Given the description of an element on the screen output the (x, y) to click on. 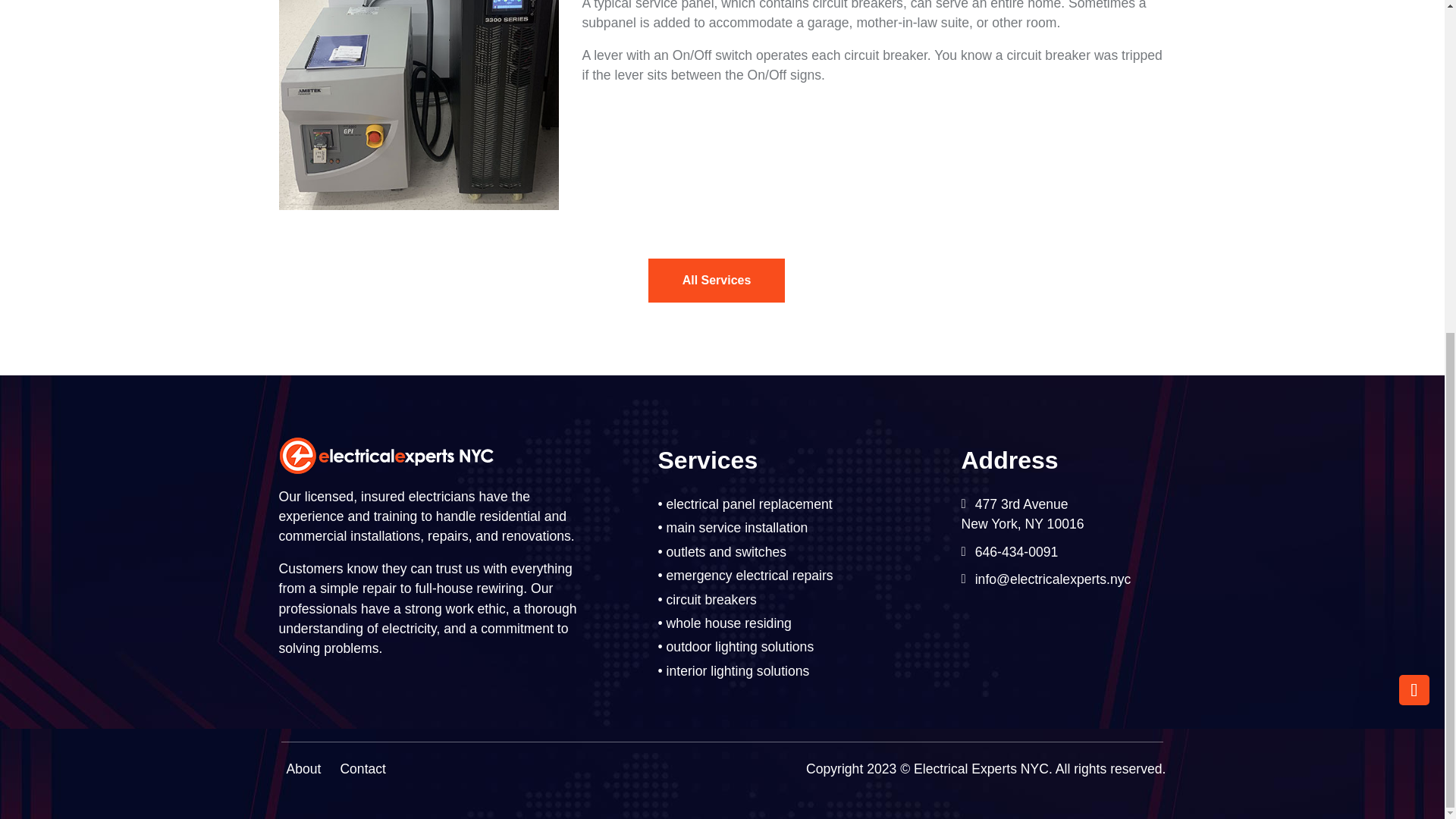
All Services (716, 280)
electrical panel replacement (749, 503)
Call us (1414, 28)
